Given the description of an element on the screen output the (x, y) to click on. 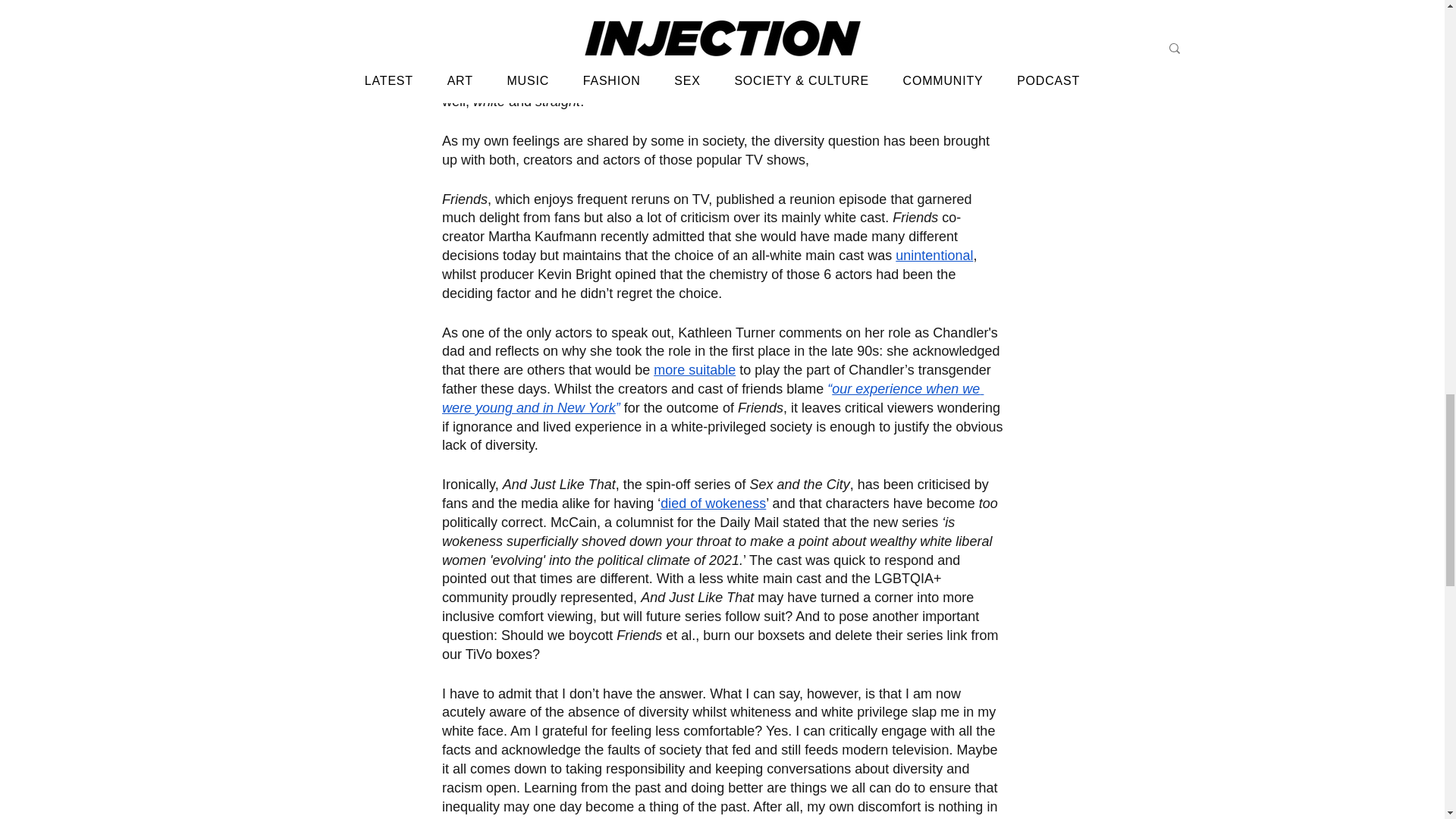
our experience when we were young and in New York (711, 398)
died of wokeness (713, 503)
unintentional (933, 255)
more suitable (694, 369)
